Given the description of an element on the screen output the (x, y) to click on. 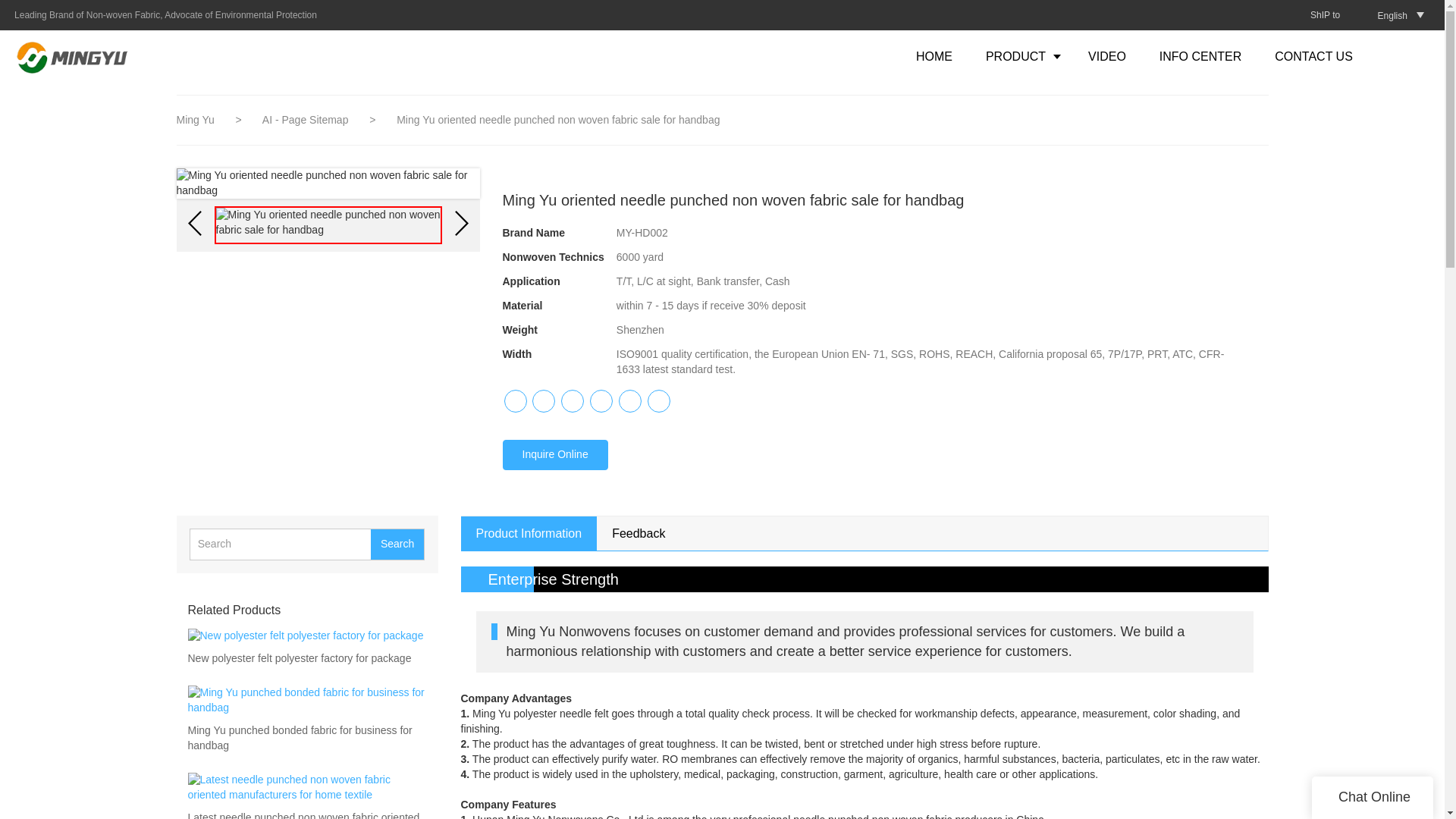
Ming Yu punched bonded fabric for business for handbag (306, 738)
New polyester felt polyester factory for package (299, 659)
VIDEO (1106, 56)
HOME (934, 56)
Inquire Online (554, 454)
Ming Yu punched bonded fabric for business for handbag (306, 738)
CONTACT US (1313, 56)
PRODUCT (1020, 56)
Ming Yu (195, 119)
